Given the description of an element on the screen output the (x, y) to click on. 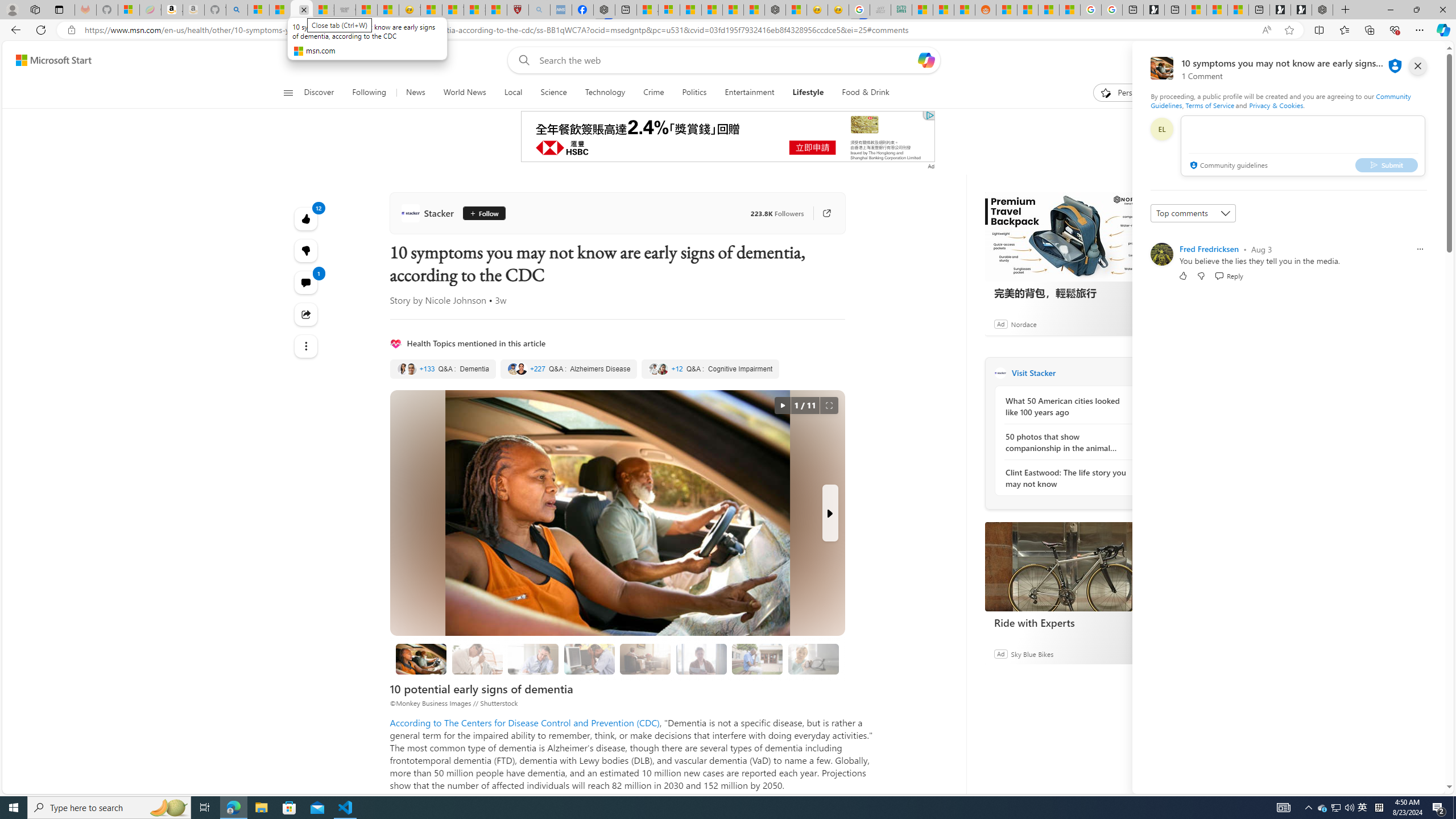
close (1417, 65)
DITOGAMES AG Imprint (901, 9)
World News (464, 92)
News (415, 92)
Class: button-glyph (287, 92)
Class: at-item (305, 345)
comment-box (1302, 145)
Microsoft-Report a Concern to Bing (128, 9)
Privacy & Cookies (1276, 104)
Open Copilot (926, 59)
Misplacing things and losing the ability to retrace steps (812, 658)
Local (513, 92)
